Given the description of an element on the screen output the (x, y) to click on. 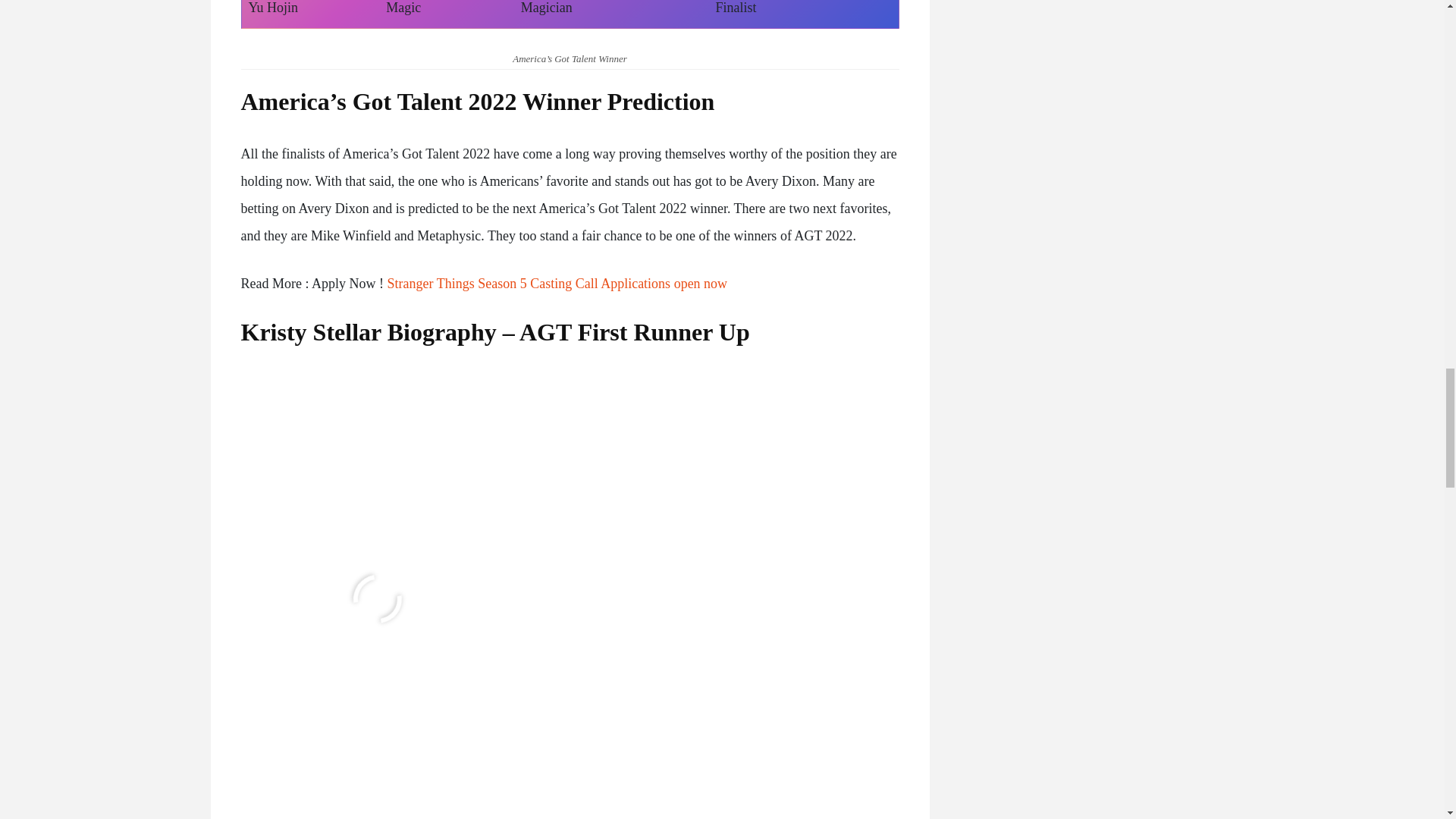
Stranger Things Season 5 Casting Call Applications open now (556, 283)
